Given the description of an element on the screen output the (x, y) to click on. 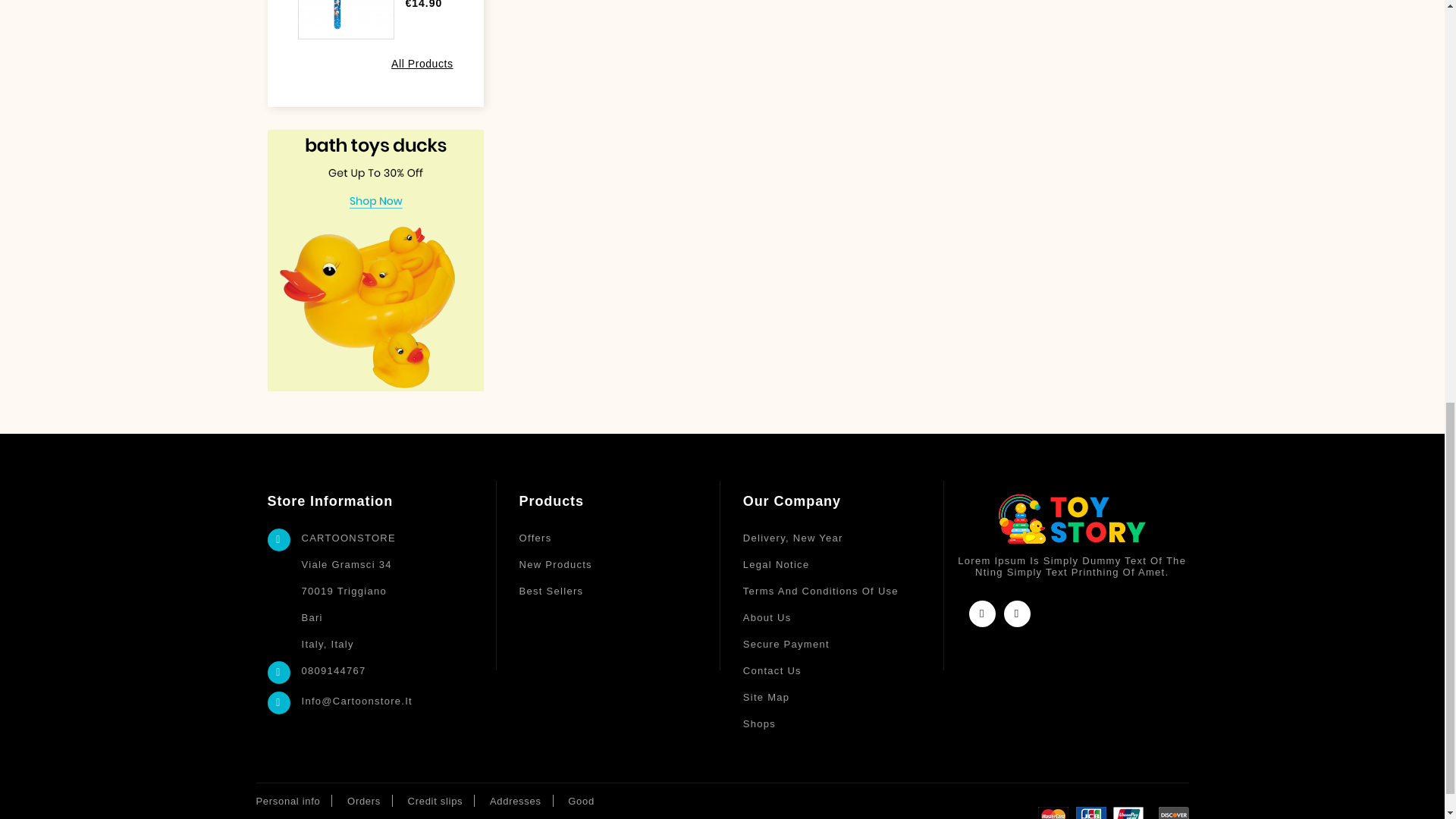
New Products (619, 564)
Legal notice (842, 564)
bottom-logo (1071, 518)
Are you lost? Here you can find what you are looking for (842, 696)
Our terms and conditions of delivery (842, 537)
Our best-selling products (619, 591)
Our terms and conditions of use (842, 591)
Credit slips (435, 800)
AEILeftBanner 1 (374, 259)
Personal info (288, 800)
Our new products, the latest arrivals (619, 564)
Our secure payment method (842, 643)
Our special products (619, 537)
All Products (421, 63)
Learn more about us (842, 617)
